Given the description of an element on the screen output the (x, y) to click on. 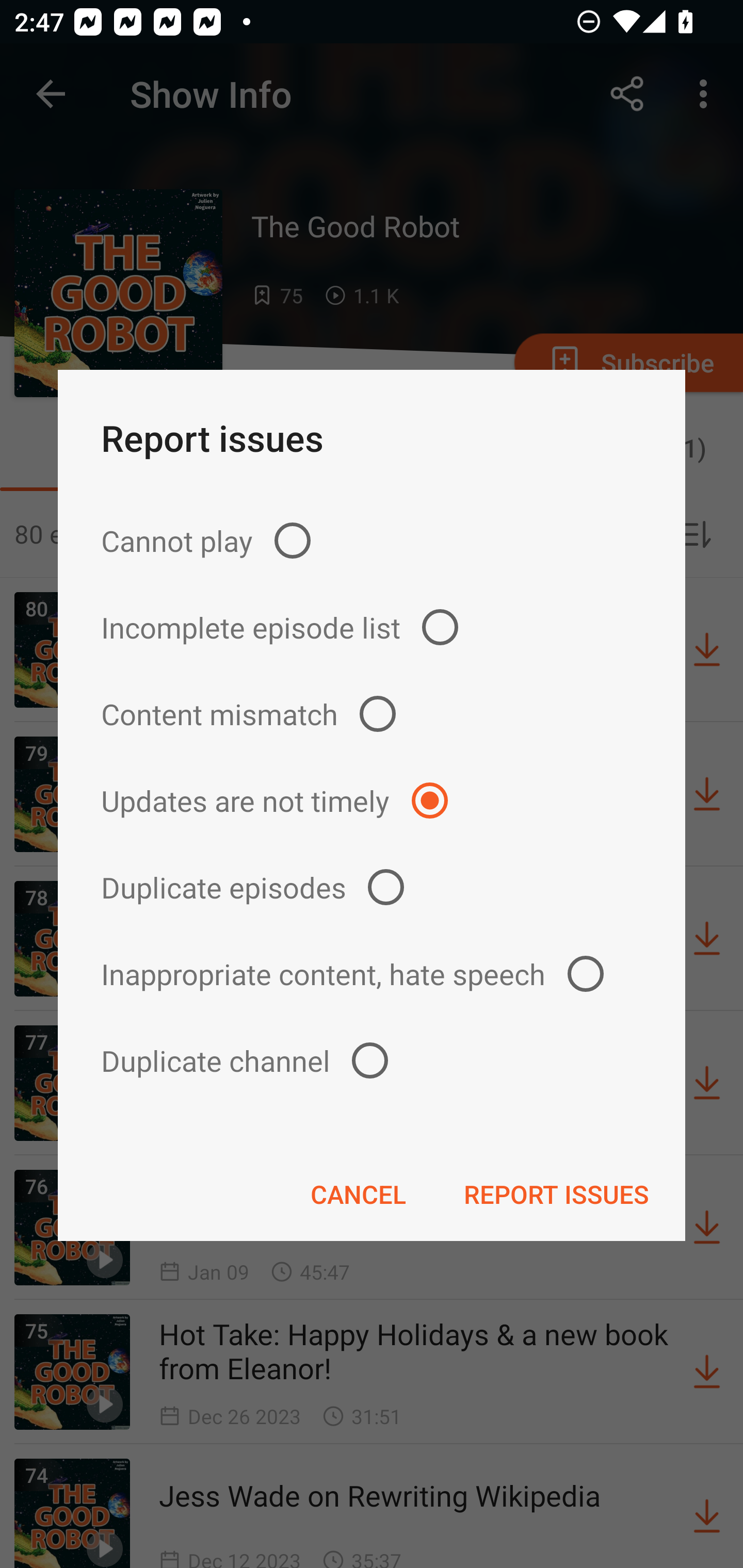
Cannot play (371, 540)
Incomplete episode list (371, 627)
Content mismatch (371, 714)
Updates are not timely (371, 800)
Duplicate episodes (371, 886)
Inappropriate content, hate speech (371, 973)
Duplicate channel (371, 1060)
CANCEL (357, 1193)
REPORT ISSUES (555, 1193)
